Given the description of an element on the screen output the (x, y) to click on. 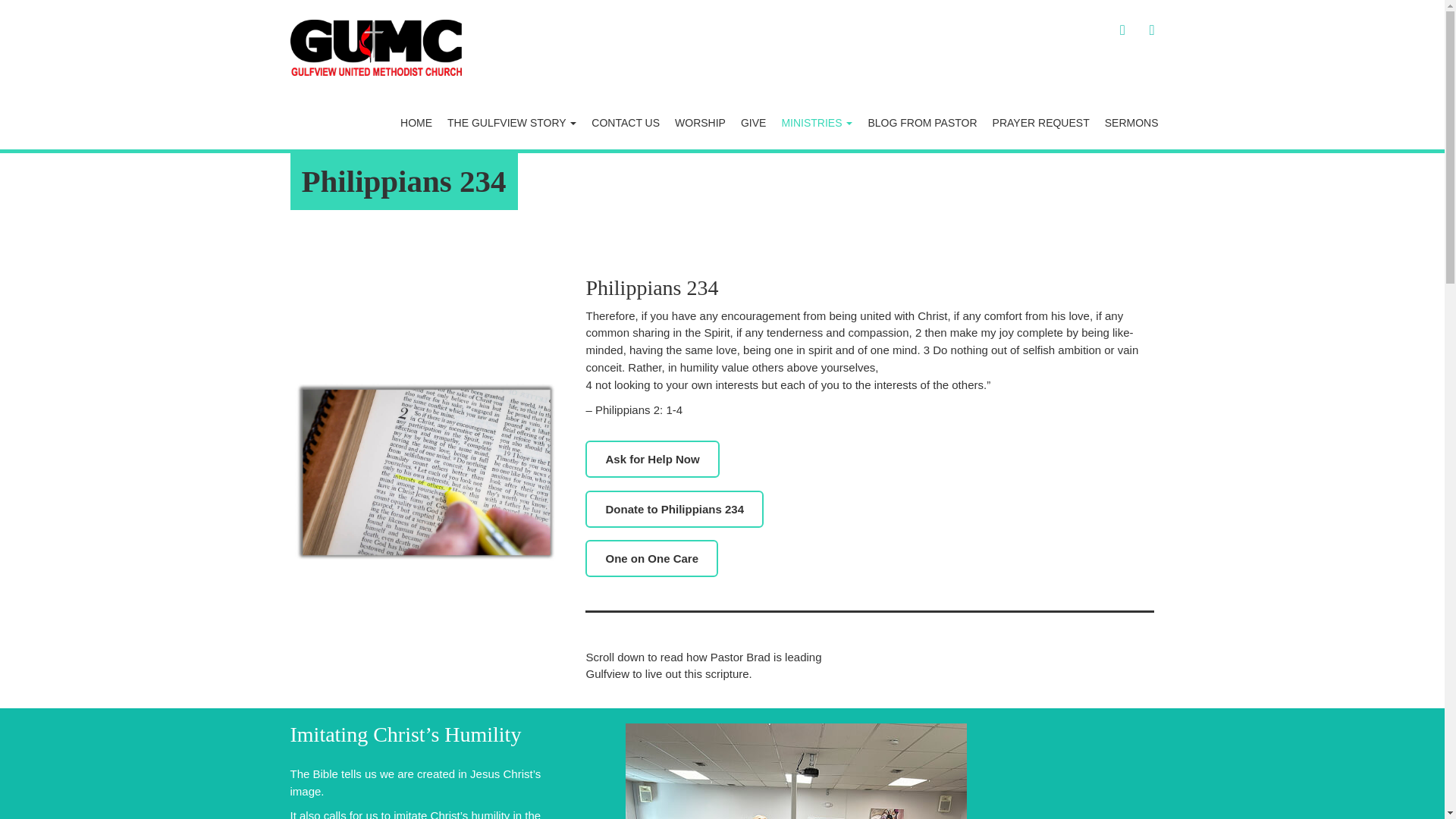
Donate to Philippians 234 (673, 508)
BLOG FROM PASTOR (922, 122)
Ask for Help Now (652, 458)
PRAYER REQUEST (1041, 122)
One on One Care (651, 558)
Philippians 234 (403, 181)
GIVE (753, 122)
HOME (416, 122)
CONTACT US (624, 122)
THE GULFVIEW STORY (511, 122)
WORSHIP (699, 122)
MINISTRIES (816, 122)
SERMONS (1131, 122)
